Given the description of an element on the screen output the (x, y) to click on. 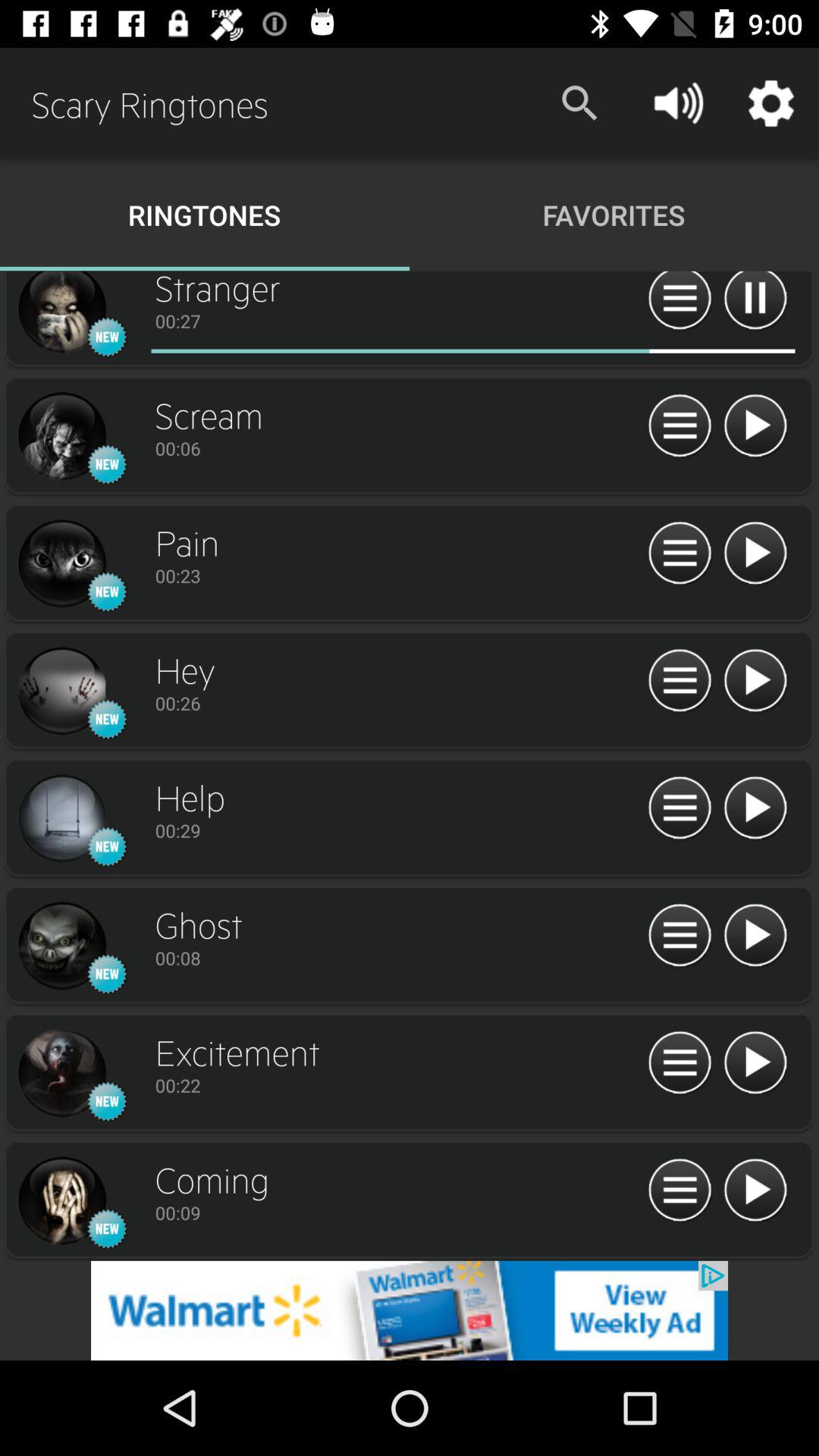
select the rington (61, 818)
